Given the description of an element on the screen output the (x, y) to click on. 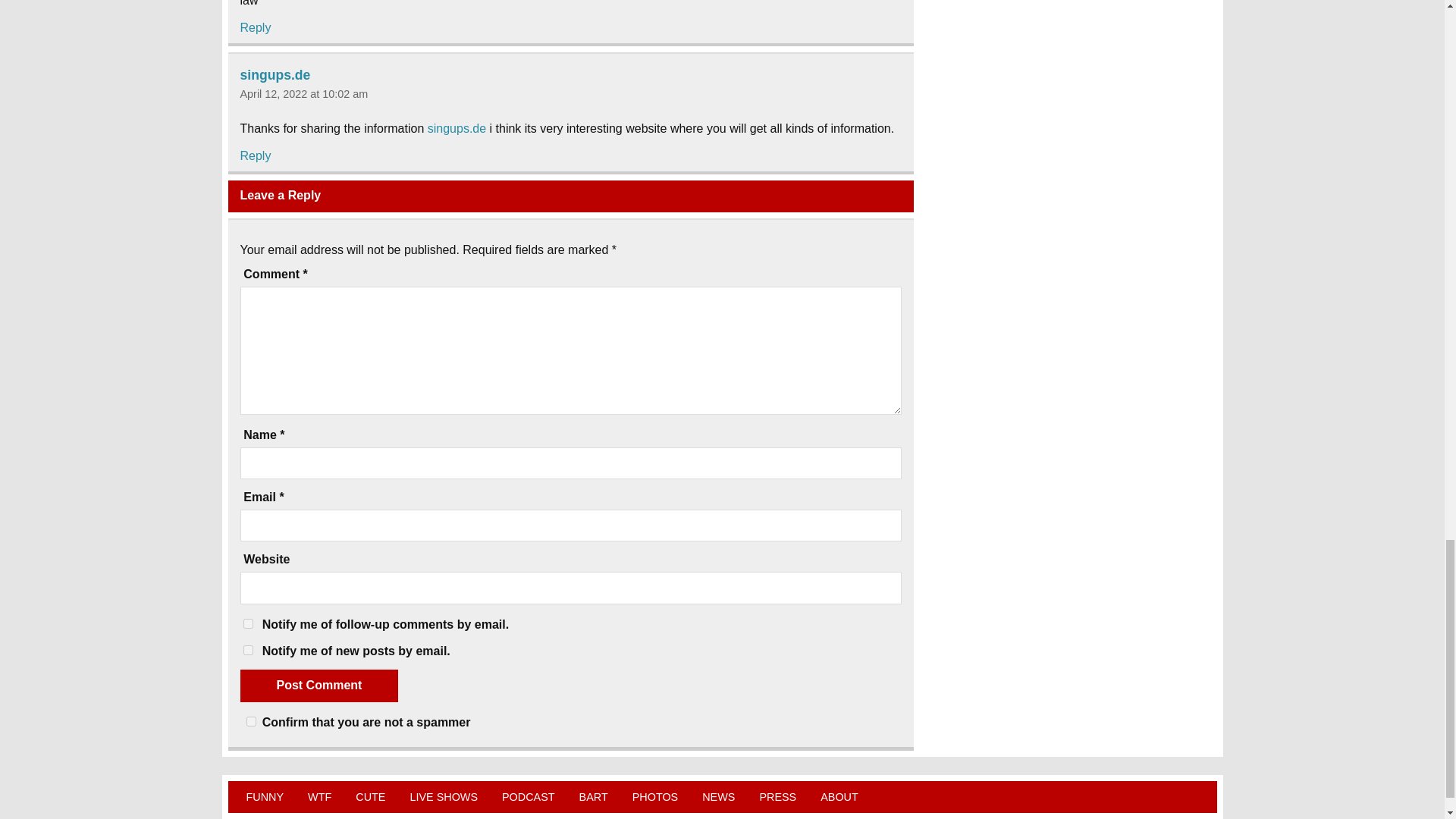
Post Comment (318, 685)
subscribe (247, 650)
on (251, 721)
subscribe (247, 623)
